Given the description of an element on the screen output the (x, y) to click on. 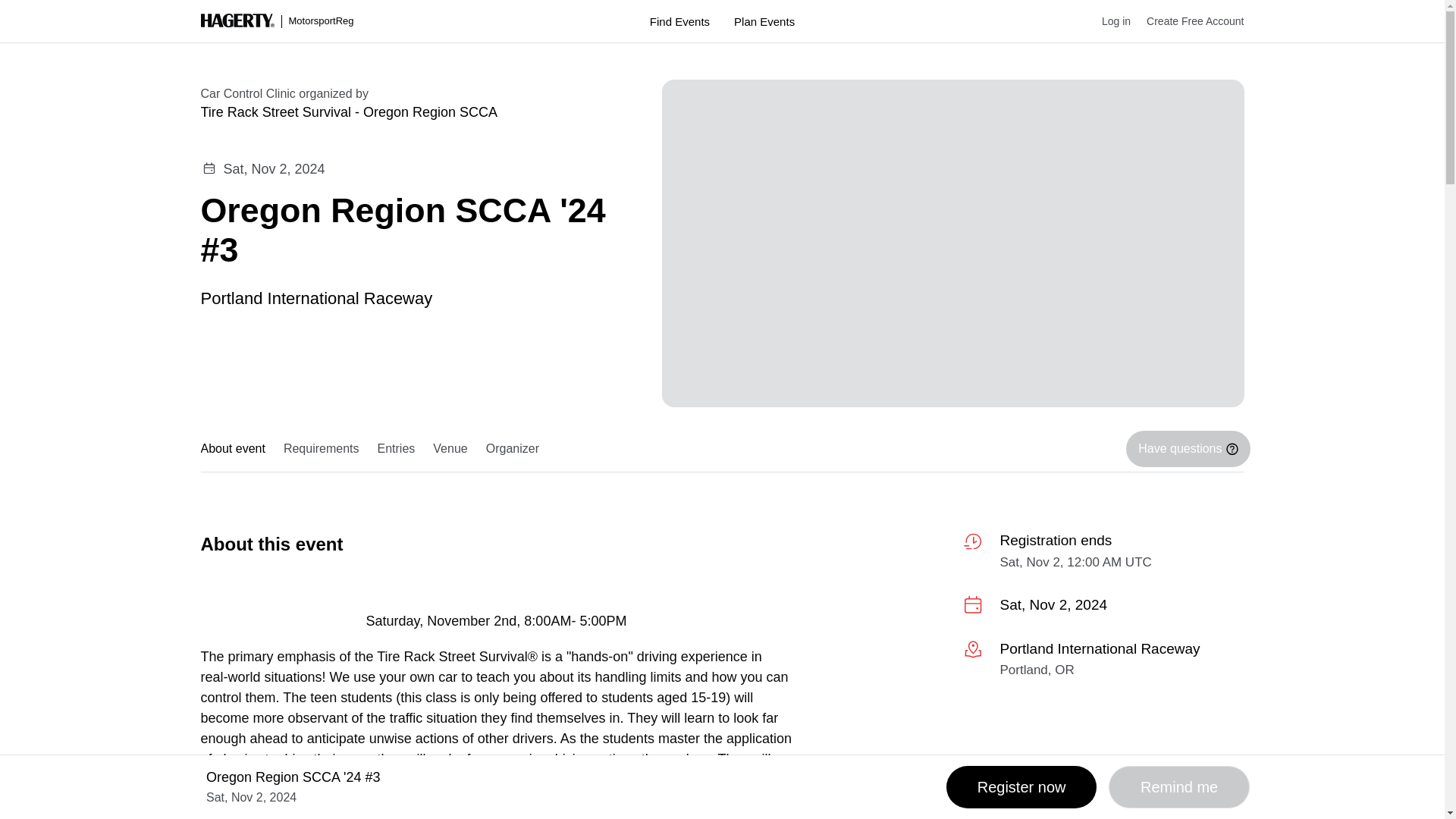
Plan Events (764, 21)
Portland International Raceway (316, 296)
More info (1102, 661)
Requirements (321, 449)
Log in (1108, 21)
Entries (396, 449)
Create Free Account (1187, 21)
Have questions (1187, 448)
Venue (449, 449)
About event (236, 449)
Tire Rack Street Survival - Oregon Region SCCA (412, 112)
Car Control Clinic (247, 92)
Find Events (679, 21)
MotorsportReg (276, 21)
Organizer (512, 449)
